Given the description of an element on the screen output the (x, y) to click on. 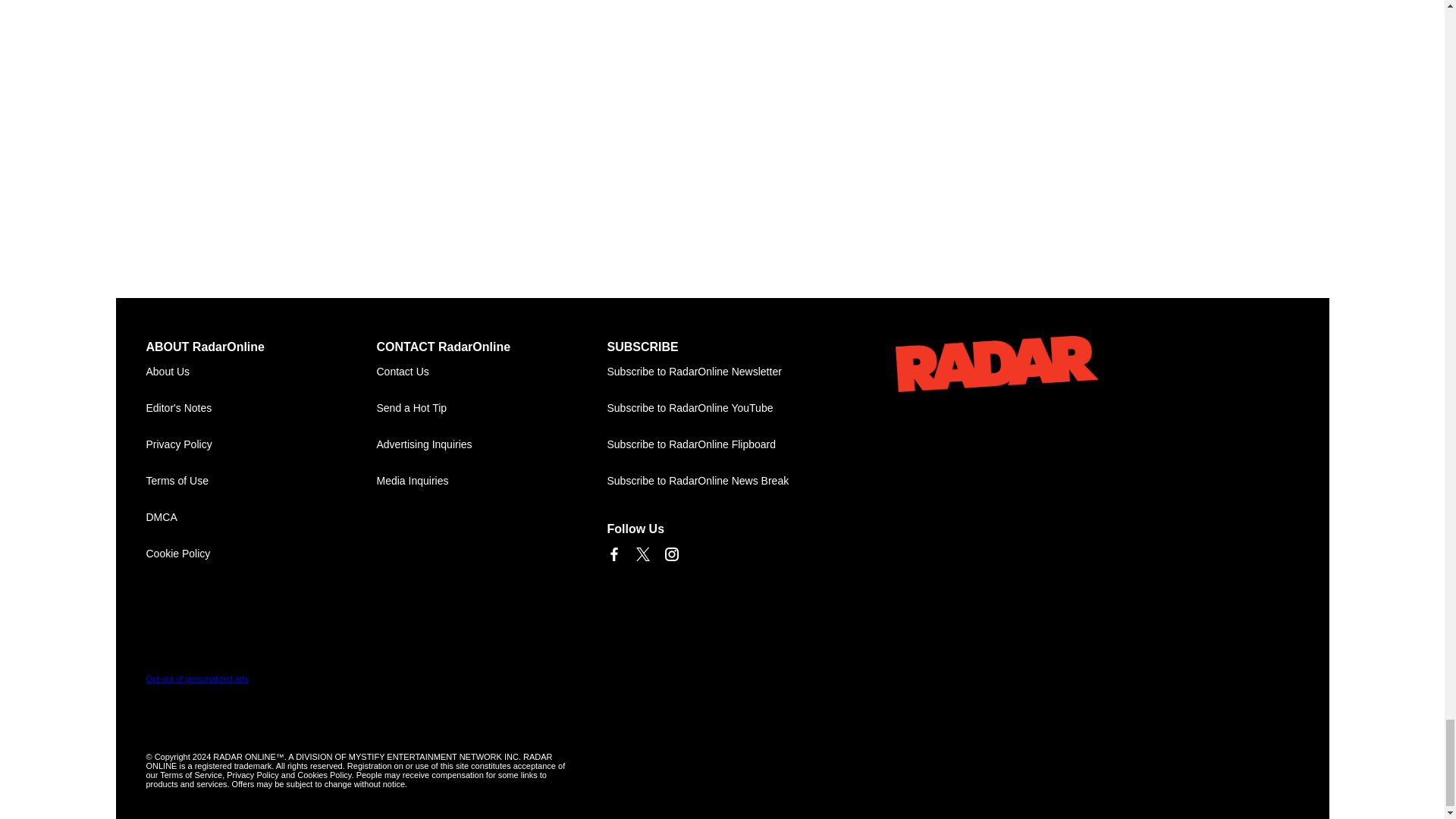
Link to Facebook (613, 554)
Privacy Policy (260, 444)
Link to X (641, 554)
Media Inquiries (491, 481)
Send a Hot Tip (491, 408)
Terms of Use (260, 481)
Contact Us (491, 371)
DMCA (260, 517)
Subscribe (722, 371)
Link to Instagram (670, 554)
